Given the description of an element on the screen output the (x, y) to click on. 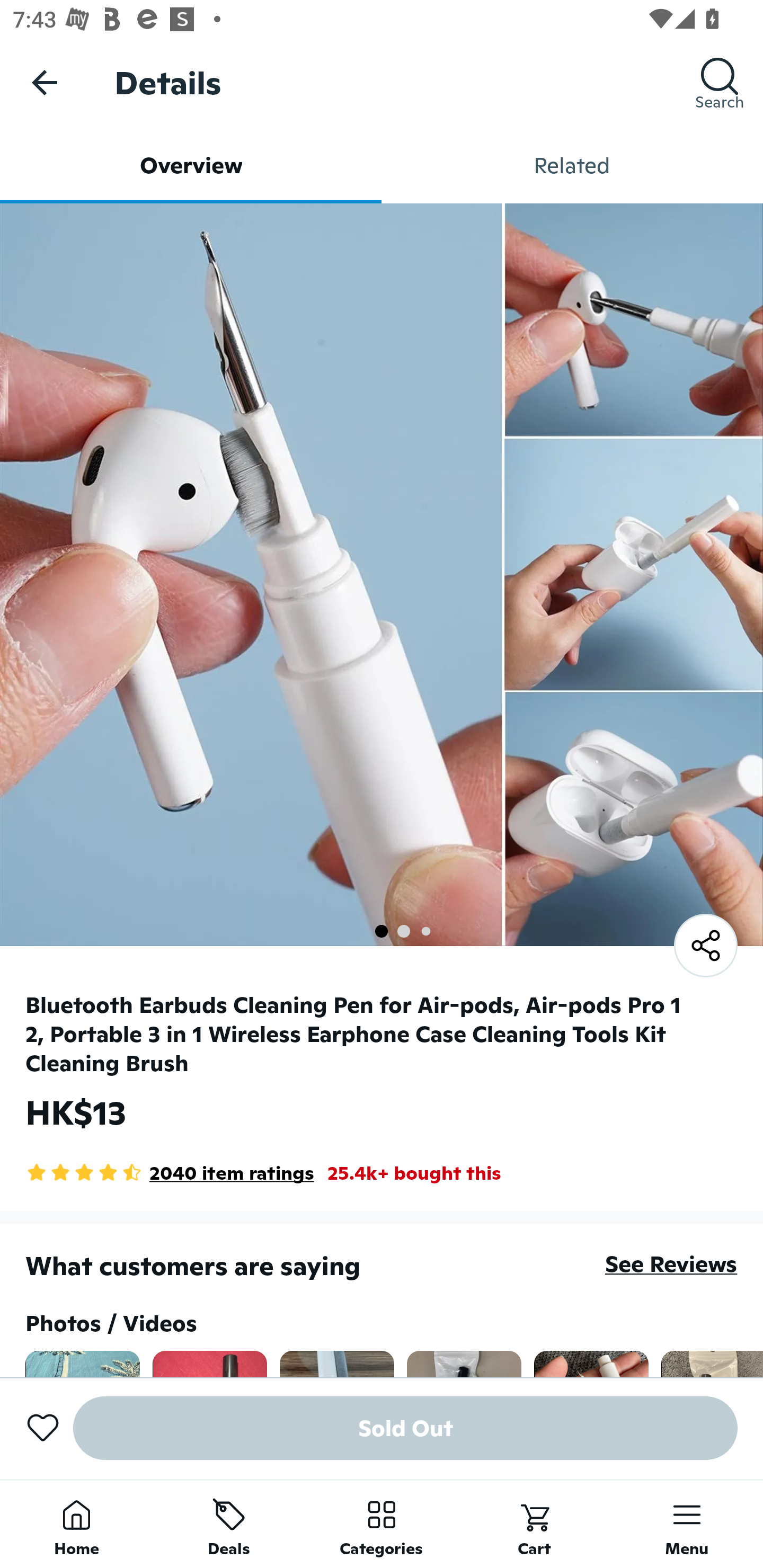
Navigate up (44, 82)
Search (719, 82)
Related (572, 165)
4.6 Star Rating 2040 item ratings (169, 1172)
See Reviews (671, 1264)
Sold Out (405, 1428)
Home (76, 1523)
Deals (228, 1523)
Categories (381, 1523)
Cart (533, 1523)
Menu (686, 1523)
